Given the description of an element on the screen output the (x, y) to click on. 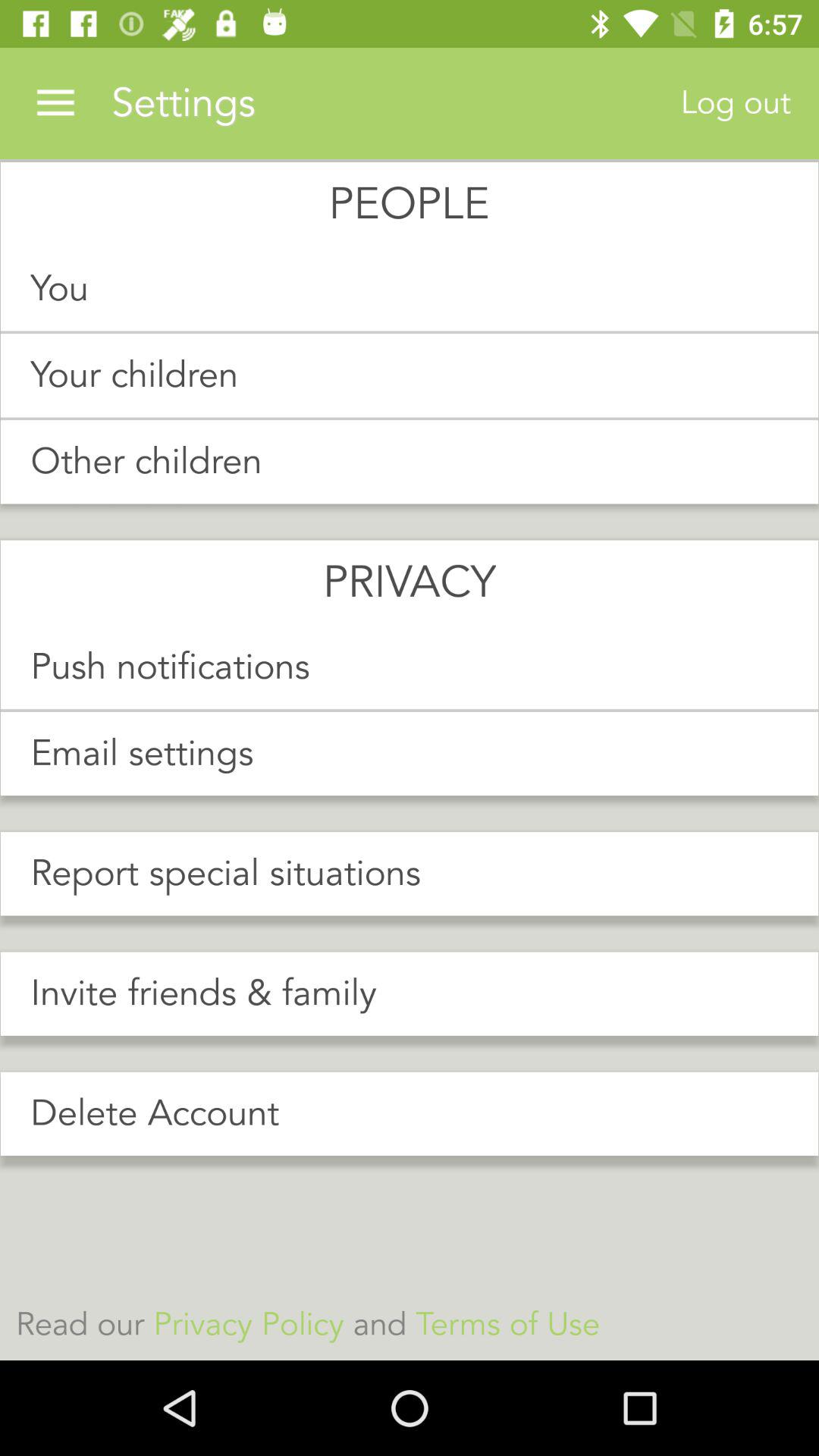
click other children (409, 461)
